Given the description of an element on the screen output the (x, y) to click on. 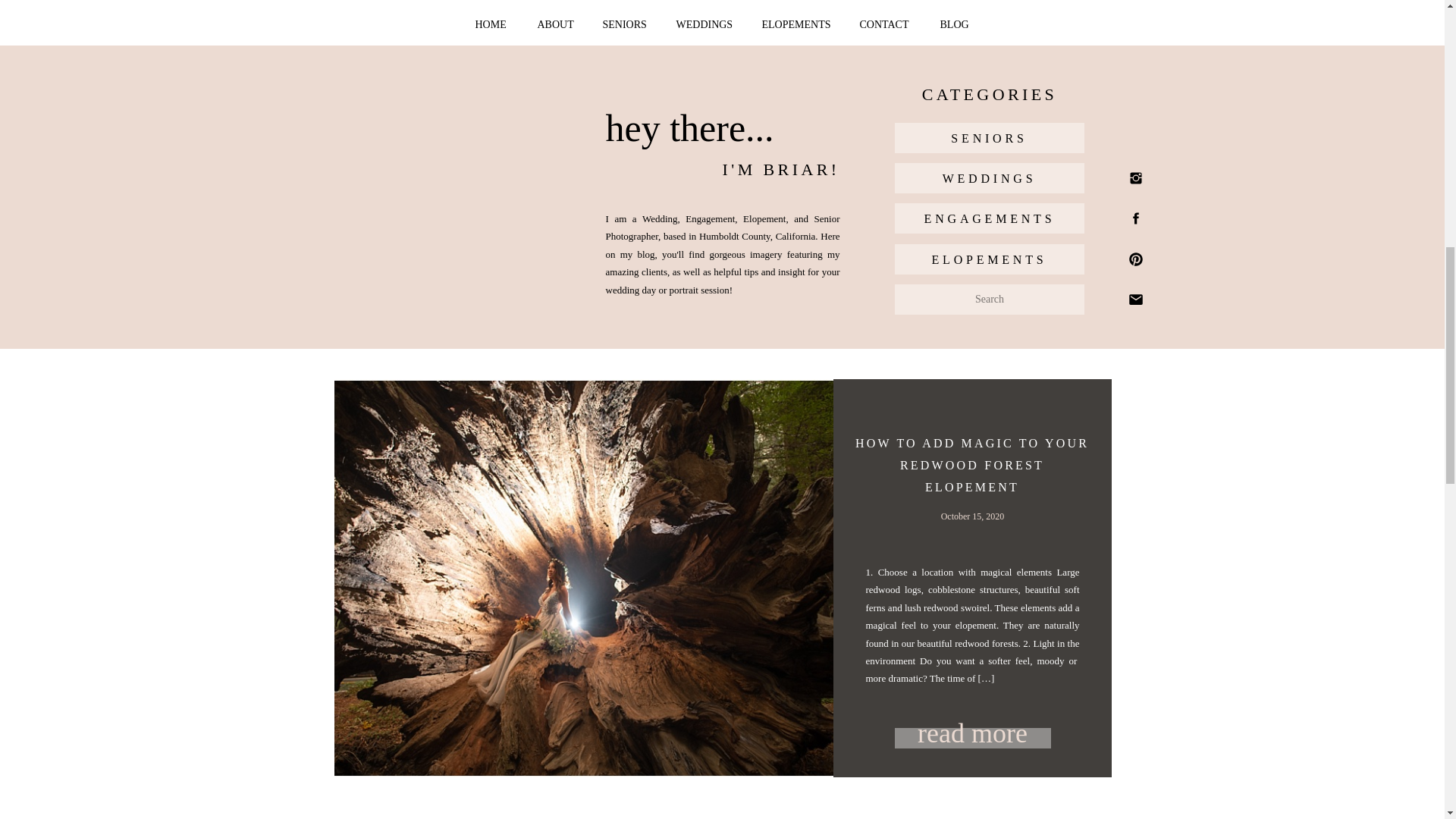
ELOPEMENTS (989, 259)
WEDDINGS (706, 25)
ELOPEMENTS (796, 25)
WEDDINGS (989, 178)
HOME (491, 25)
HOW TO ADD MAGIC TO YOUR REDWOOD FOREST ELOPEMENT (972, 464)
SENIORS (989, 137)
How to add magic to your redwood forest elopement (973, 731)
CONTACT (887, 25)
SENIORS (626, 25)
How to add magic to your redwood forest elopement (973, 738)
read more (973, 731)
ABOUT (556, 25)
BLOG (956, 25)
